Given the description of an element on the screen output the (x, y) to click on. 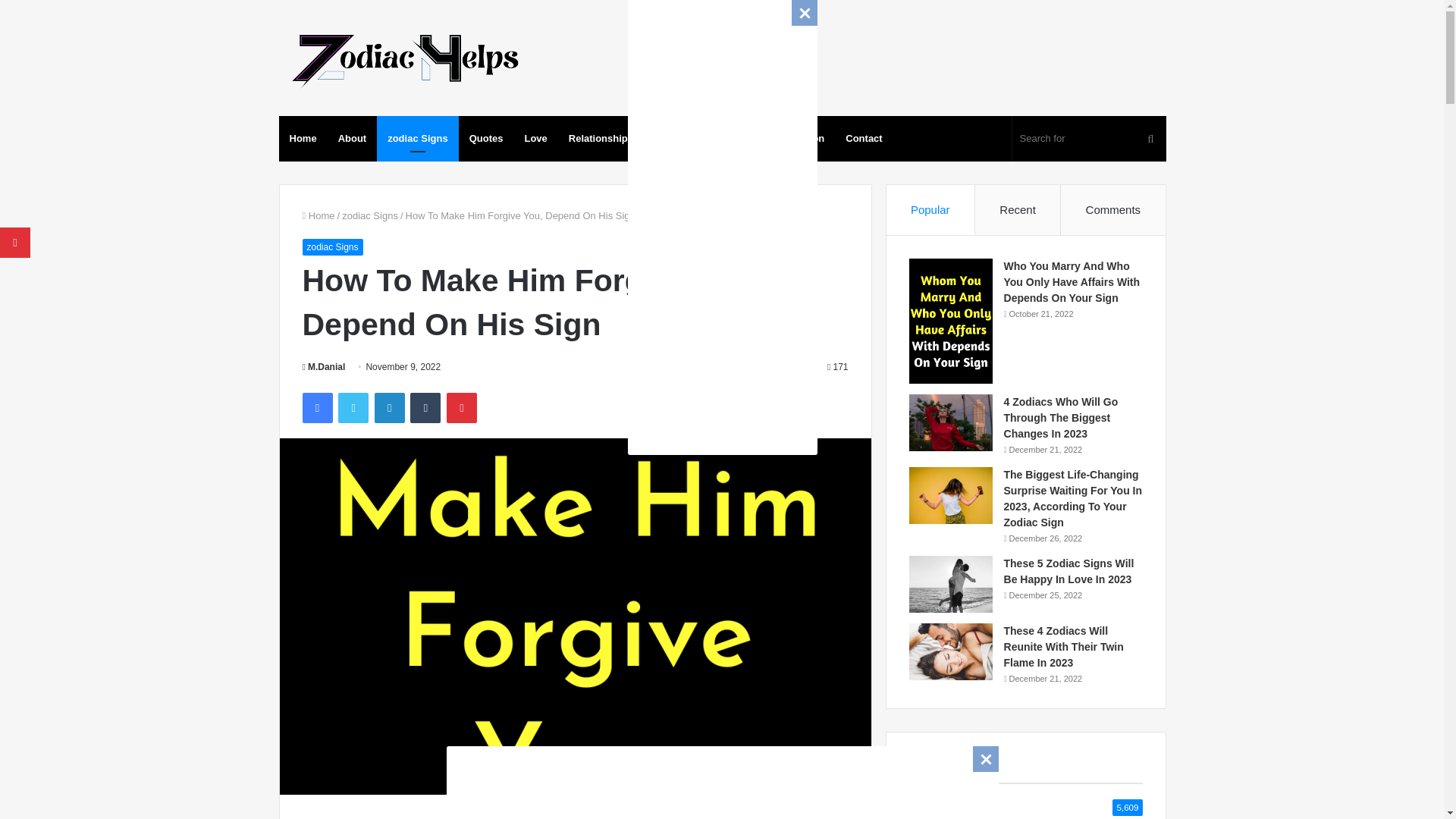
Privacy Policy (682, 138)
Love (535, 138)
Tumblr (425, 408)
About (352, 138)
Pinterest (461, 408)
Quotes (485, 138)
LinkedIn (389, 408)
Home (317, 215)
Search for (1088, 138)
zodiac Signs (369, 215)
